Given the description of an element on the screen output the (x, y) to click on. 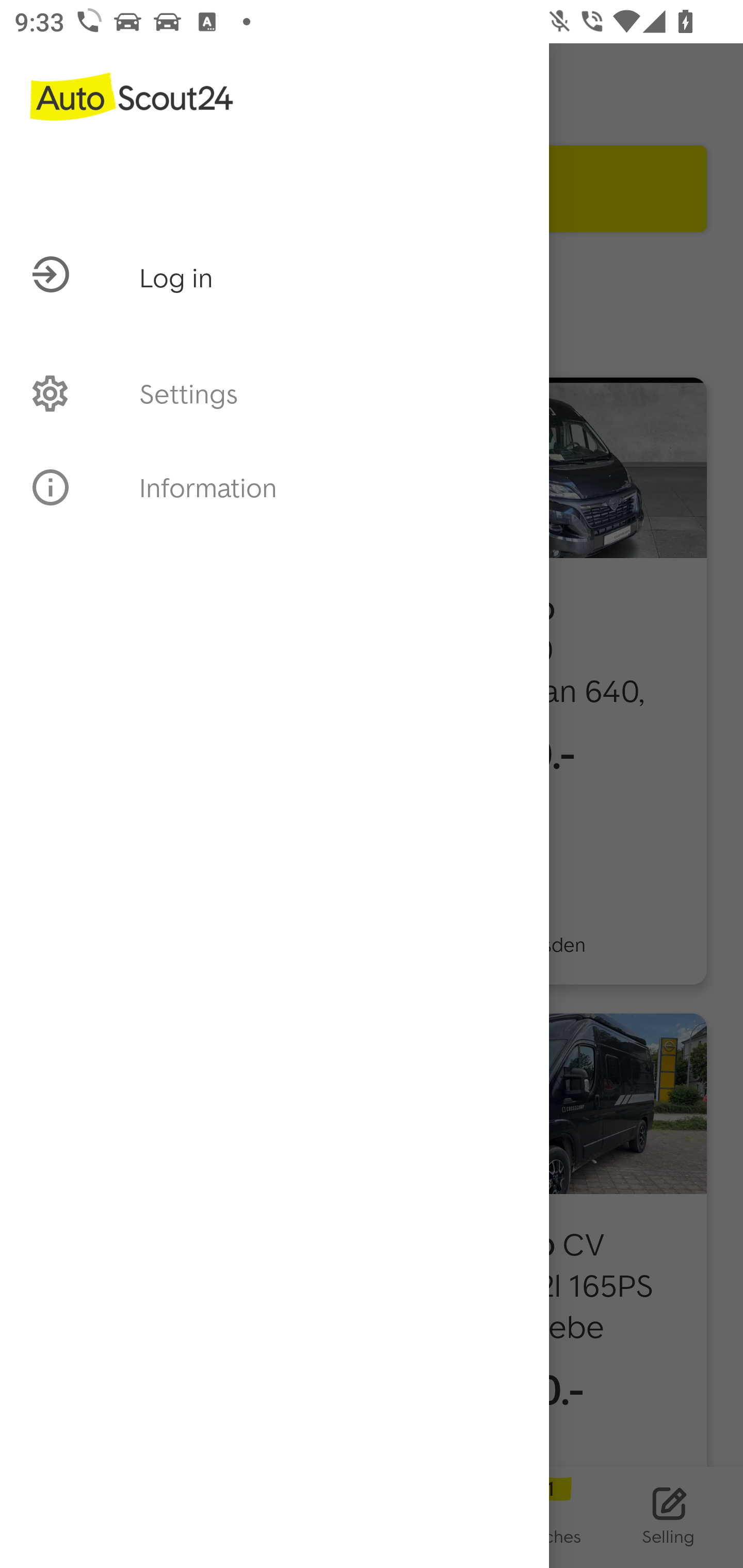
PROFILE Settings (274, 393)
INFO Information (274, 487)
